Given the description of an element on the screen output the (x, y) to click on. 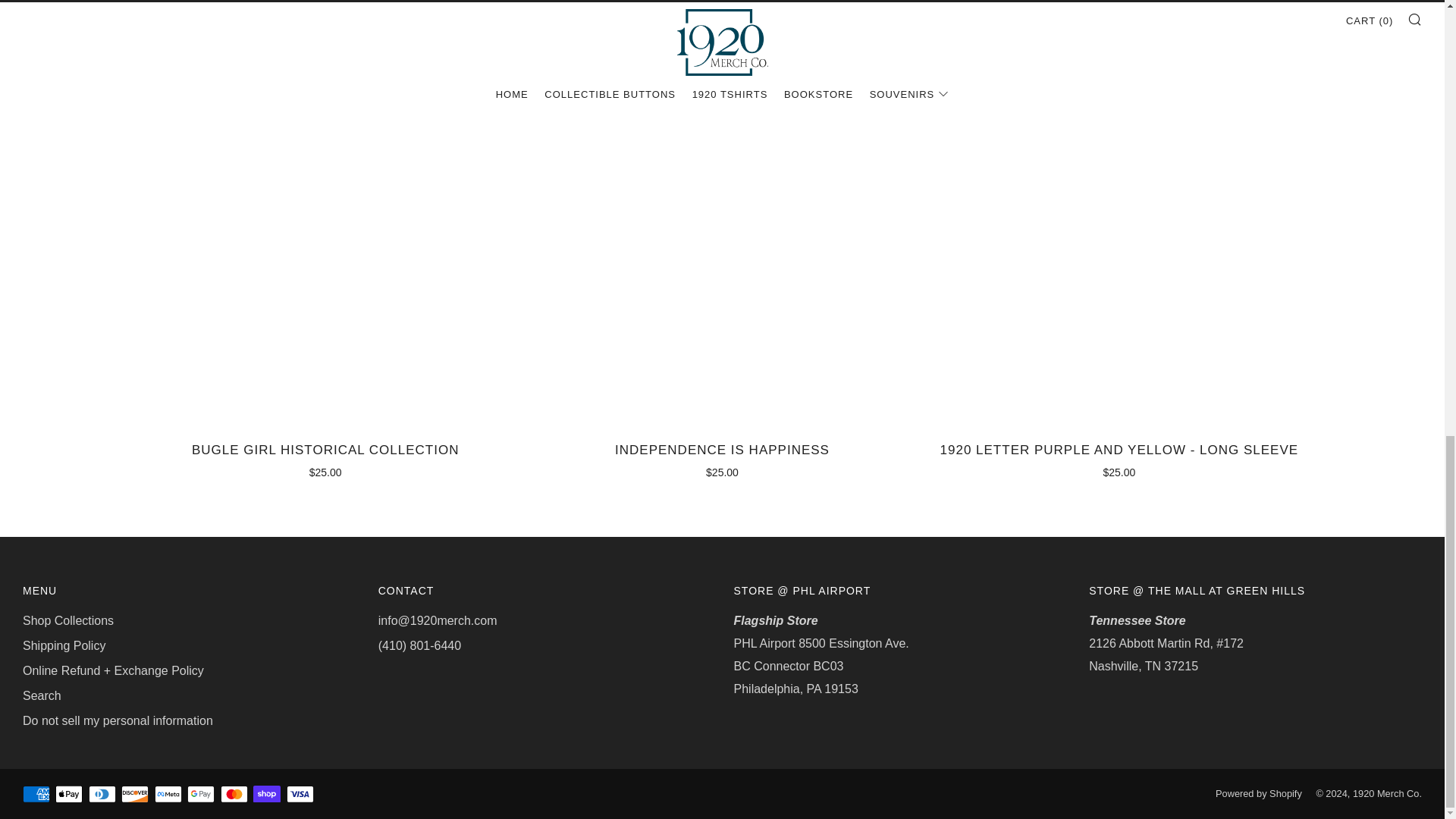
1920 Letter Purple and Yellow - Long Sleeve (1118, 457)
Bugle Girl Historical Collection (325, 457)
Independence is Happiness (721, 457)
